Given the description of an element on the screen output the (x, y) to click on. 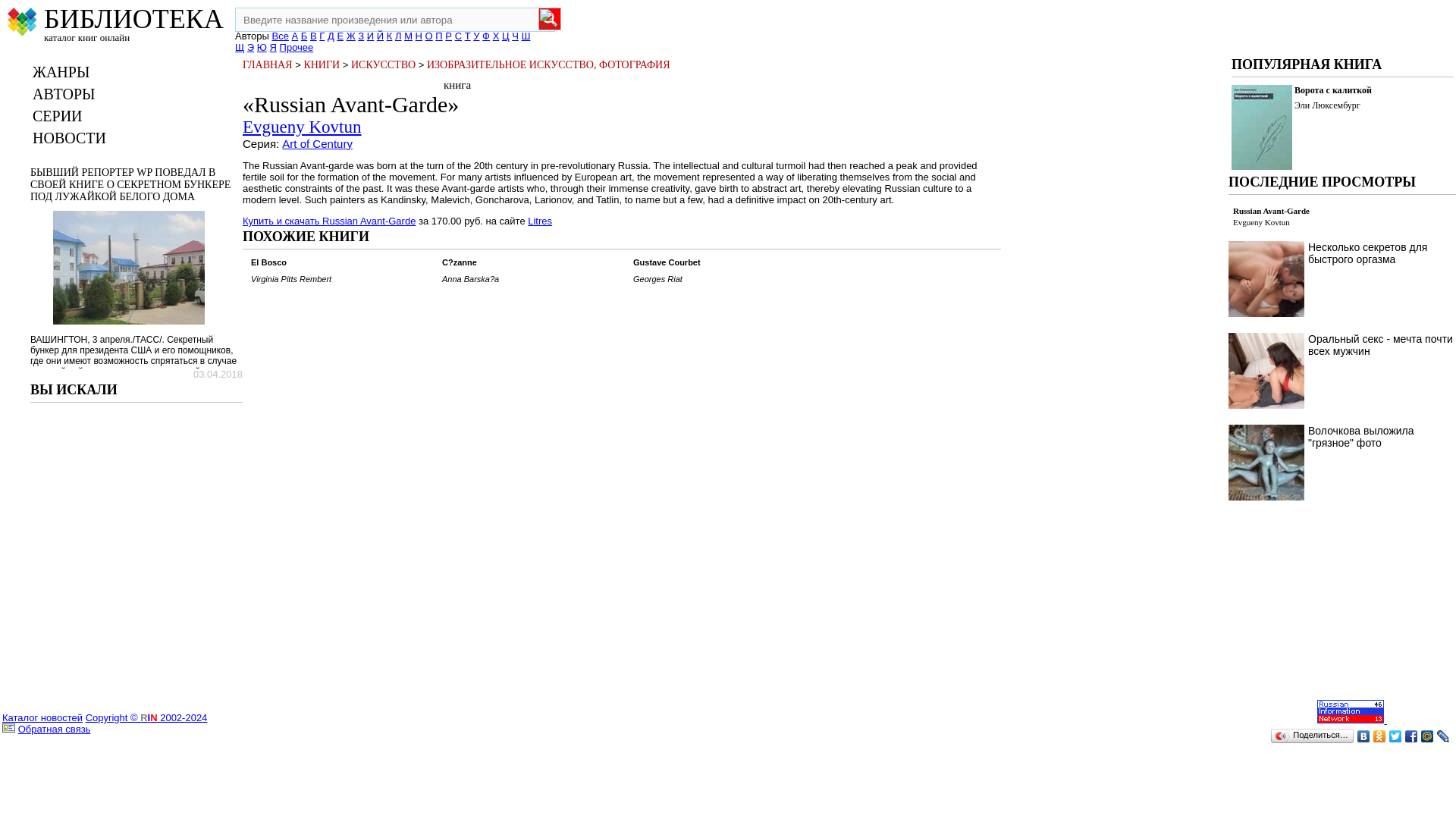
Evgueny Kovtun (302, 126)
Litres (539, 220)
Art of Century (317, 143)
